Given the description of an element on the screen output the (x, y) to click on. 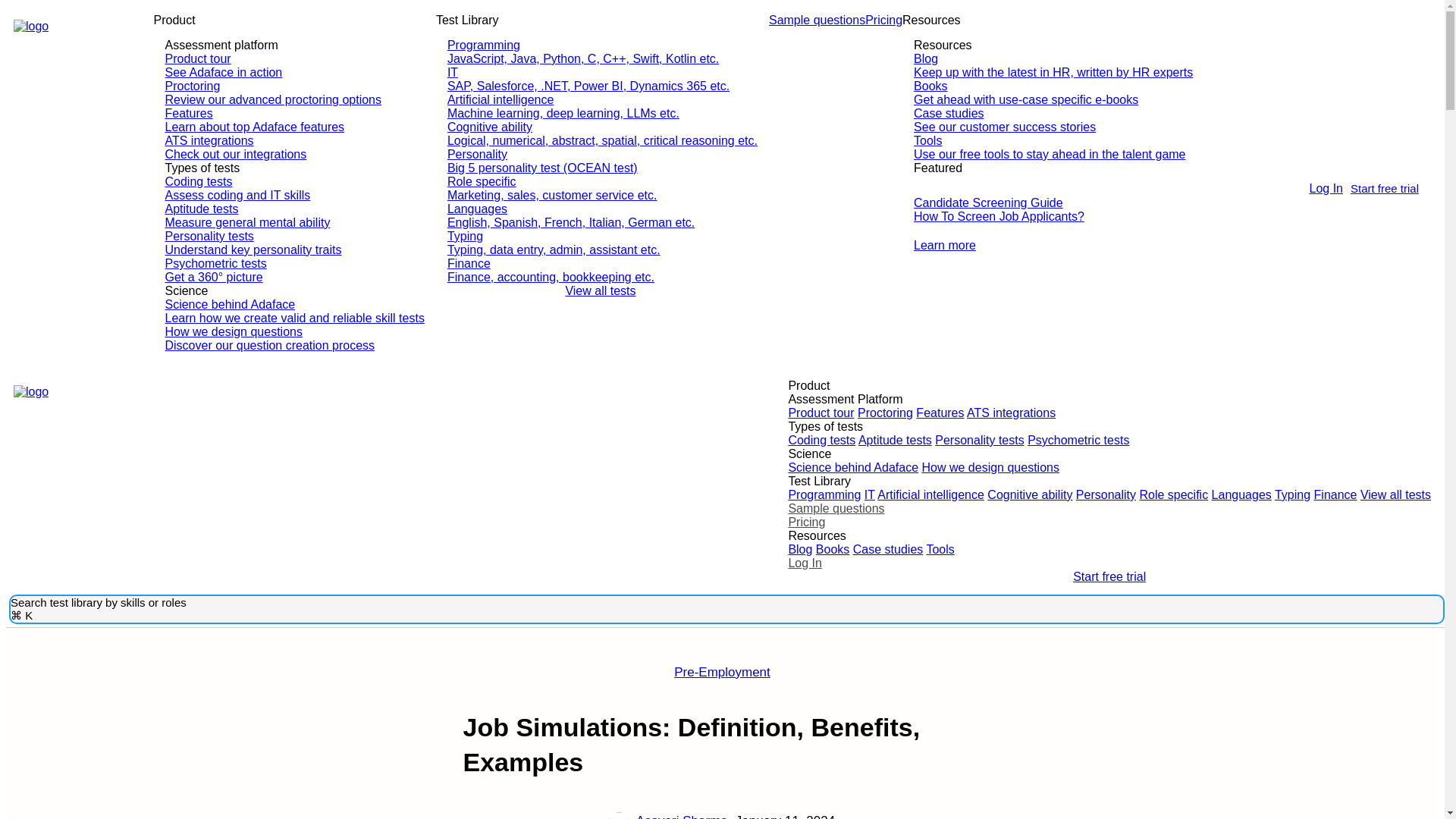
View all tests (601, 291)
Coding tests (821, 440)
Start free trial (1384, 188)
Features (939, 412)
